Given the description of an element on the screen output the (x, y) to click on. 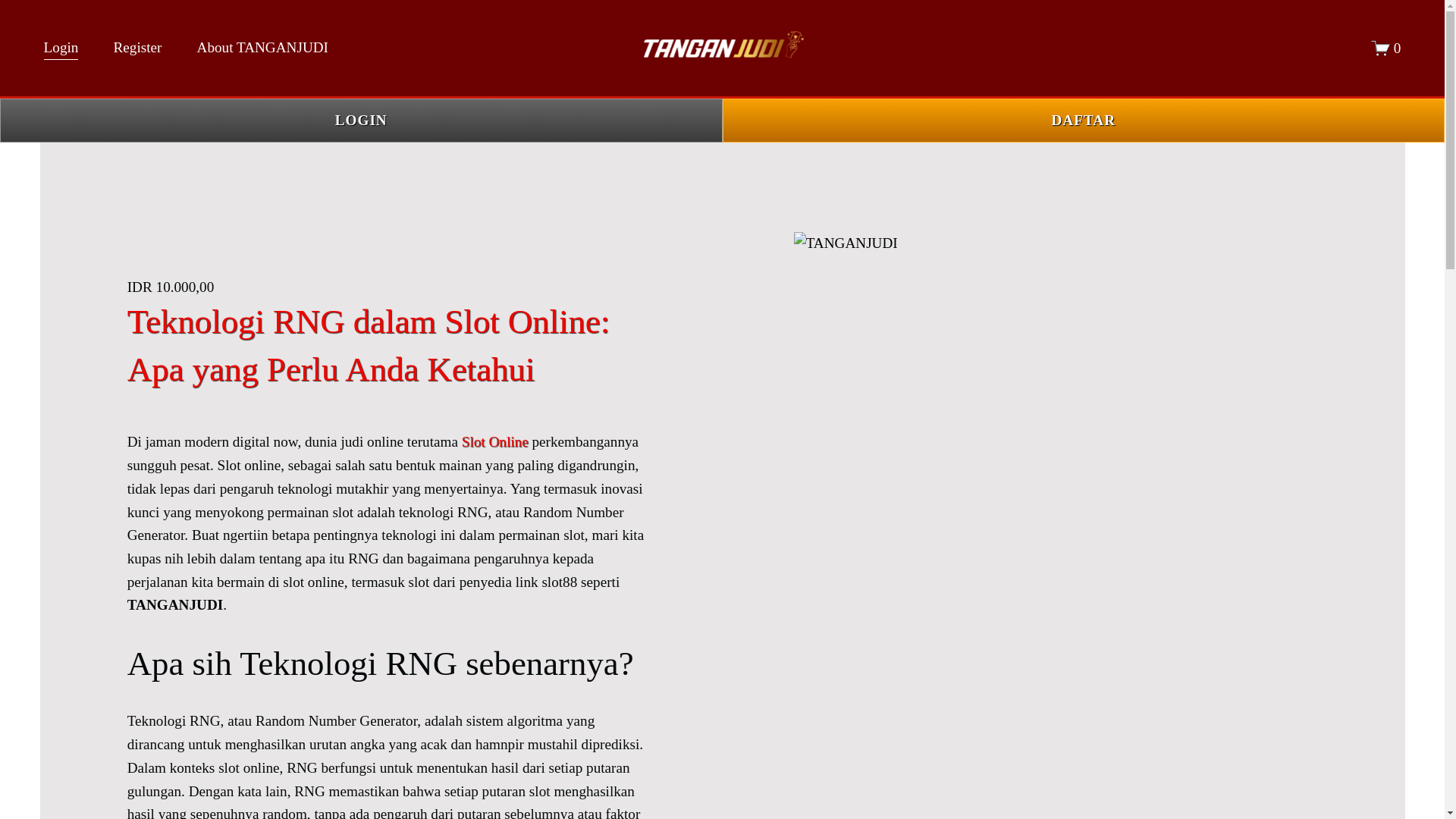
LOGIN (361, 120)
About TANGANJUDI (262, 48)
0 (1385, 47)
Slot Online (494, 441)
Register (137, 48)
Login (60, 48)
